Given the description of an element on the screen output the (x, y) to click on. 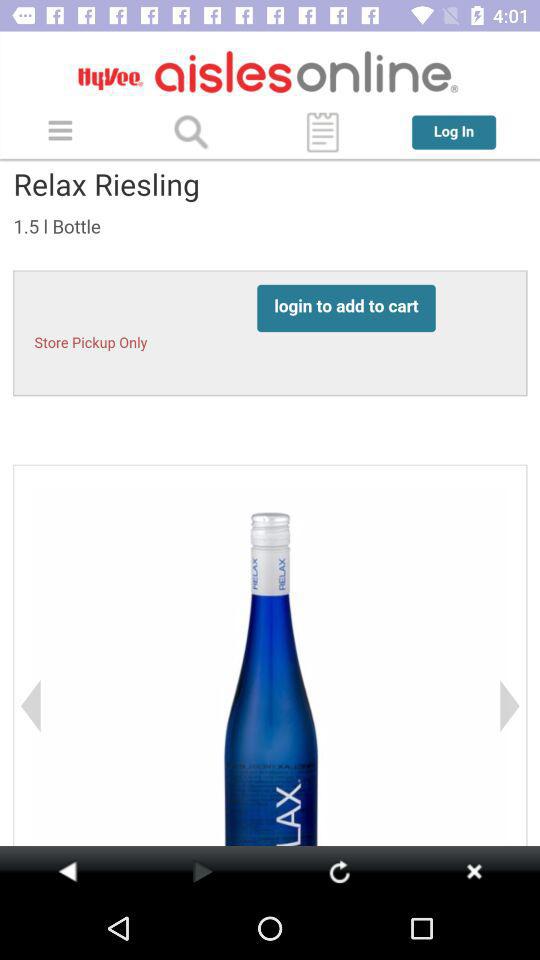
refresh (339, 871)
